Given the description of an element on the screen output the (x, y) to click on. 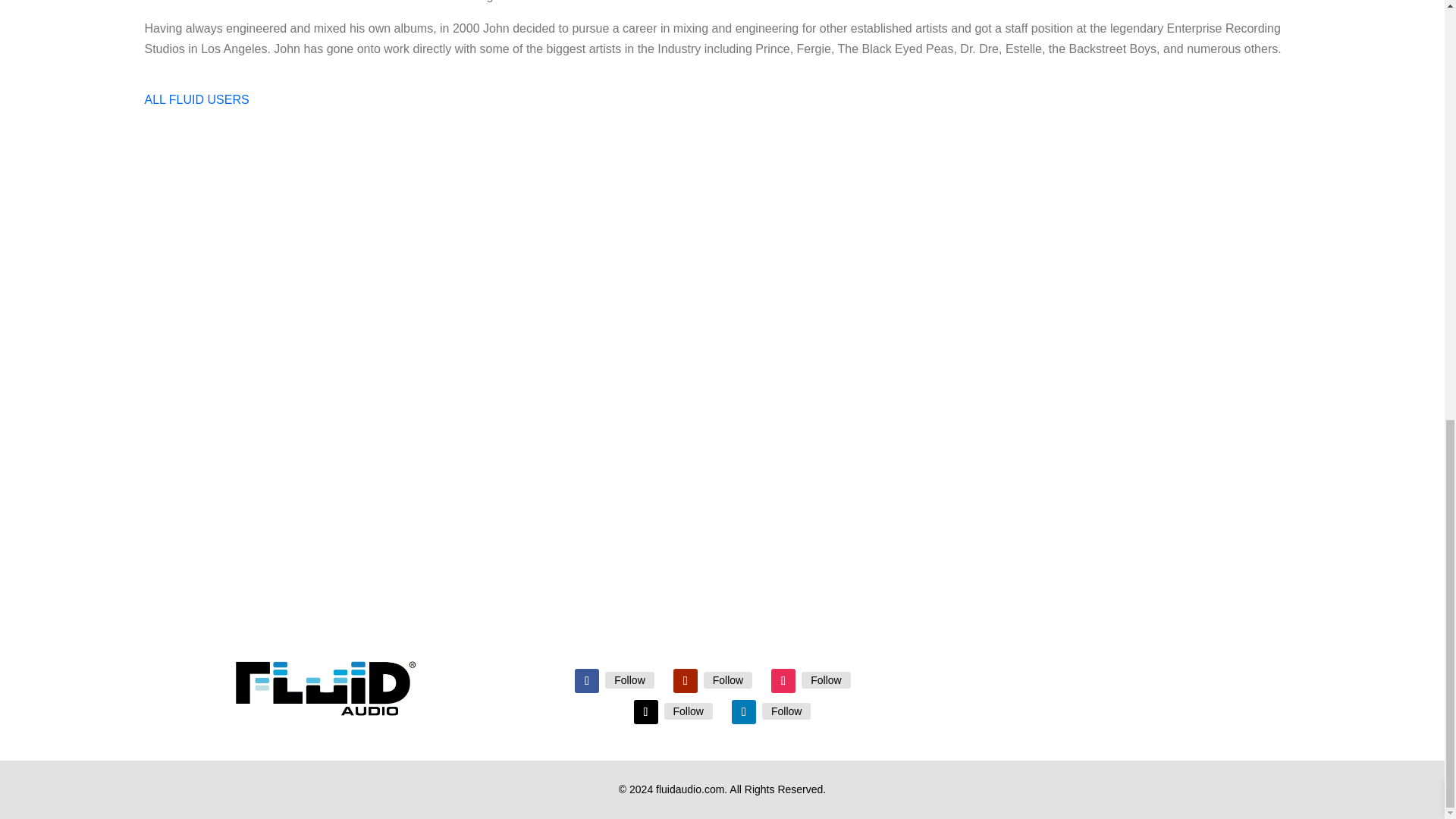
Facebook (629, 679)
Follow on Instagram (782, 680)
Fluid Audio logo footer mobile (325, 687)
Follow on LinkedIn (743, 711)
Instagram (826, 679)
Follow on Facebook (586, 680)
Follow on Youtube (684, 680)
LinkedIn (785, 710)
X (688, 710)
Follow on X (645, 711)
Youtube (727, 679)
